Given the description of an element on the screen output the (x, y) to click on. 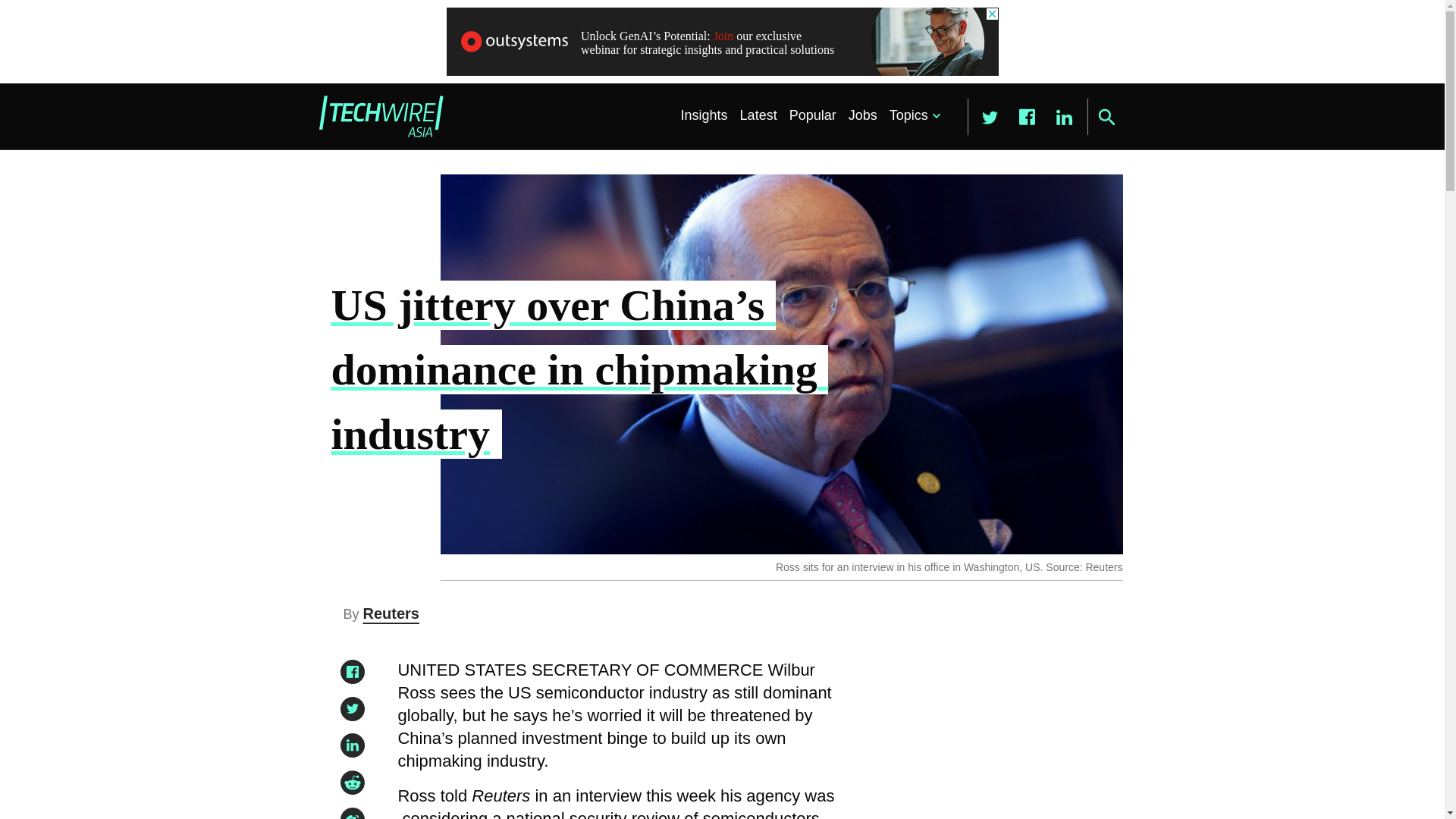
Insights (704, 115)
3rd party ad content (988, 746)
Posts by Reuters (390, 613)
Latest (758, 115)
Submit (1106, 116)
Submit (1106, 116)
Popular (813, 115)
Topics (911, 115)
Jobs (863, 115)
3rd party ad content (721, 41)
Reuters (390, 613)
